Given the description of an element on the screen output the (x, y) to click on. 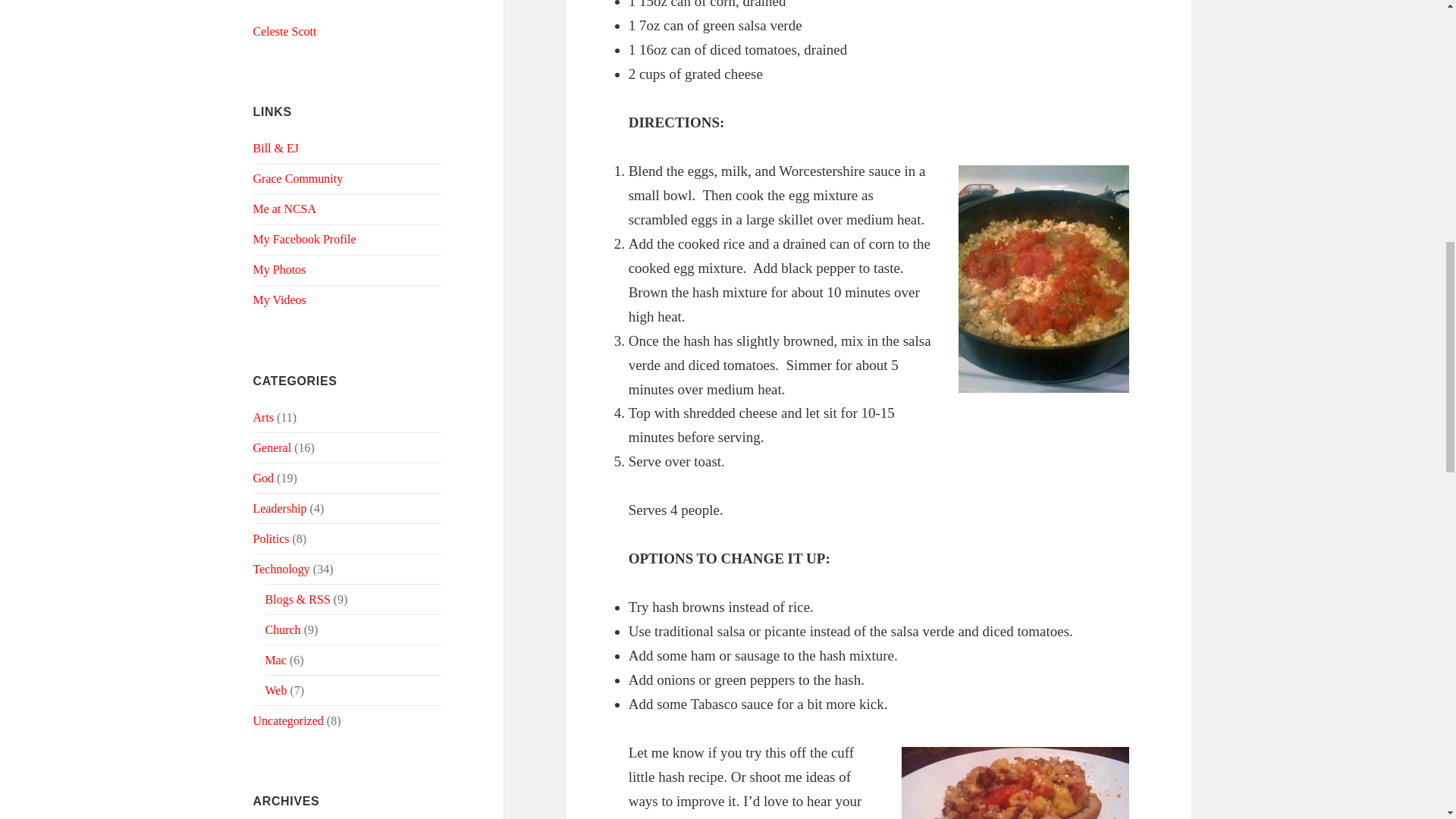
Mac (275, 659)
My Photos (279, 269)
Web (275, 689)
My church and passion in Champaign, IL. (298, 178)
Grace Community (298, 178)
My Facebook Profile (304, 238)
My Videos (279, 299)
IlliMex Egg Hash - Plated (1015, 782)
God (264, 477)
Arts (264, 417)
